Given the description of an element on the screen output the (x, y) to click on. 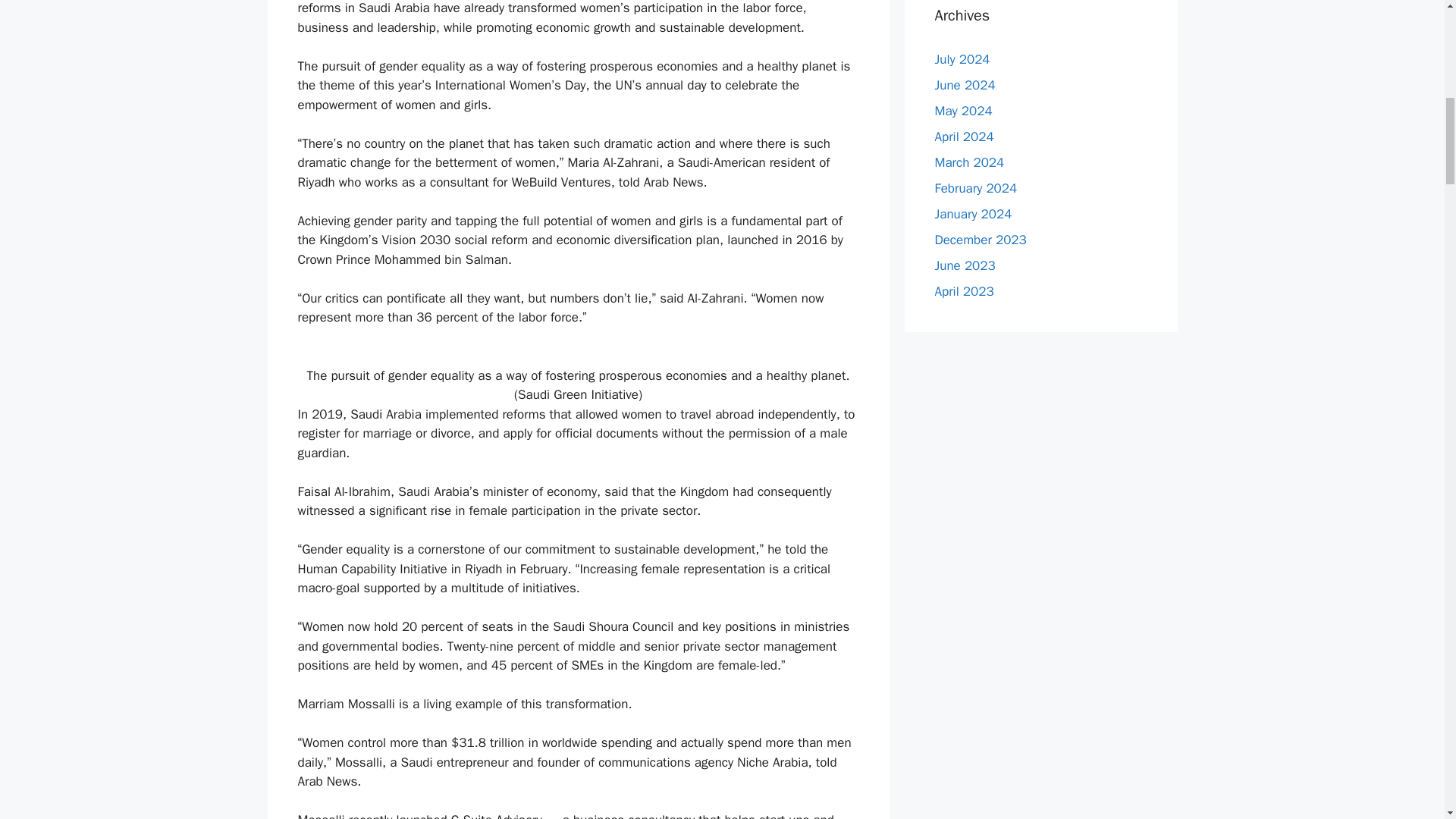
April 2024 (963, 136)
July 2024 (962, 59)
June 2023 (964, 265)
June 2024 (964, 84)
January 2024 (972, 213)
April 2023 (963, 291)
May 2024 (962, 110)
March 2024 (969, 162)
December 2023 (980, 239)
February 2024 (975, 188)
